Given the description of an element on the screen output the (x, y) to click on. 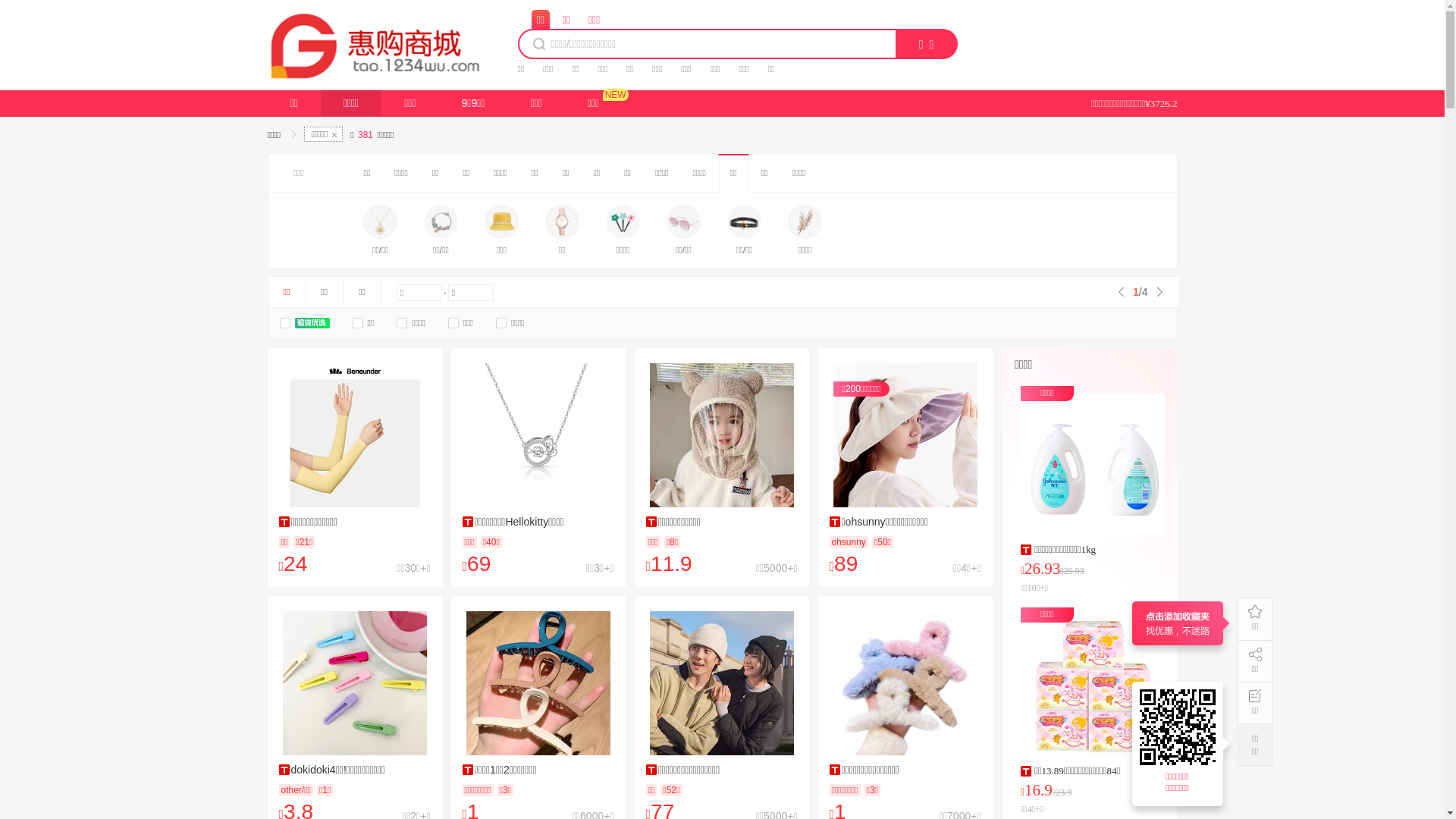
https://tao.1234wu.com Element type: hover (1179, 727)
